Given the description of an element on the screen output the (x, y) to click on. 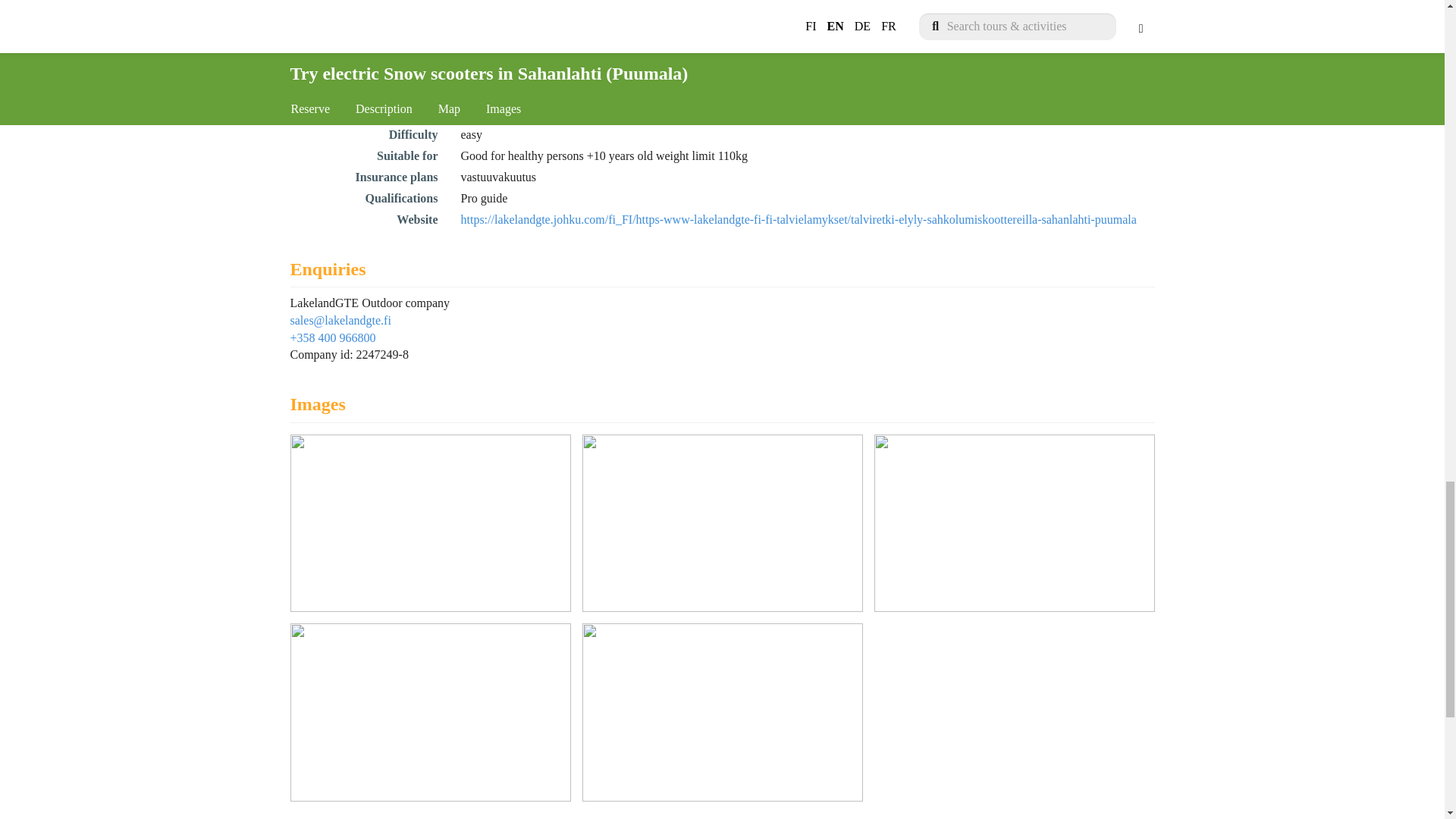
Video of Seal trail scenery - Video of Seal trail scenery (722, 711)
